Given the description of an element on the screen output the (x, y) to click on. 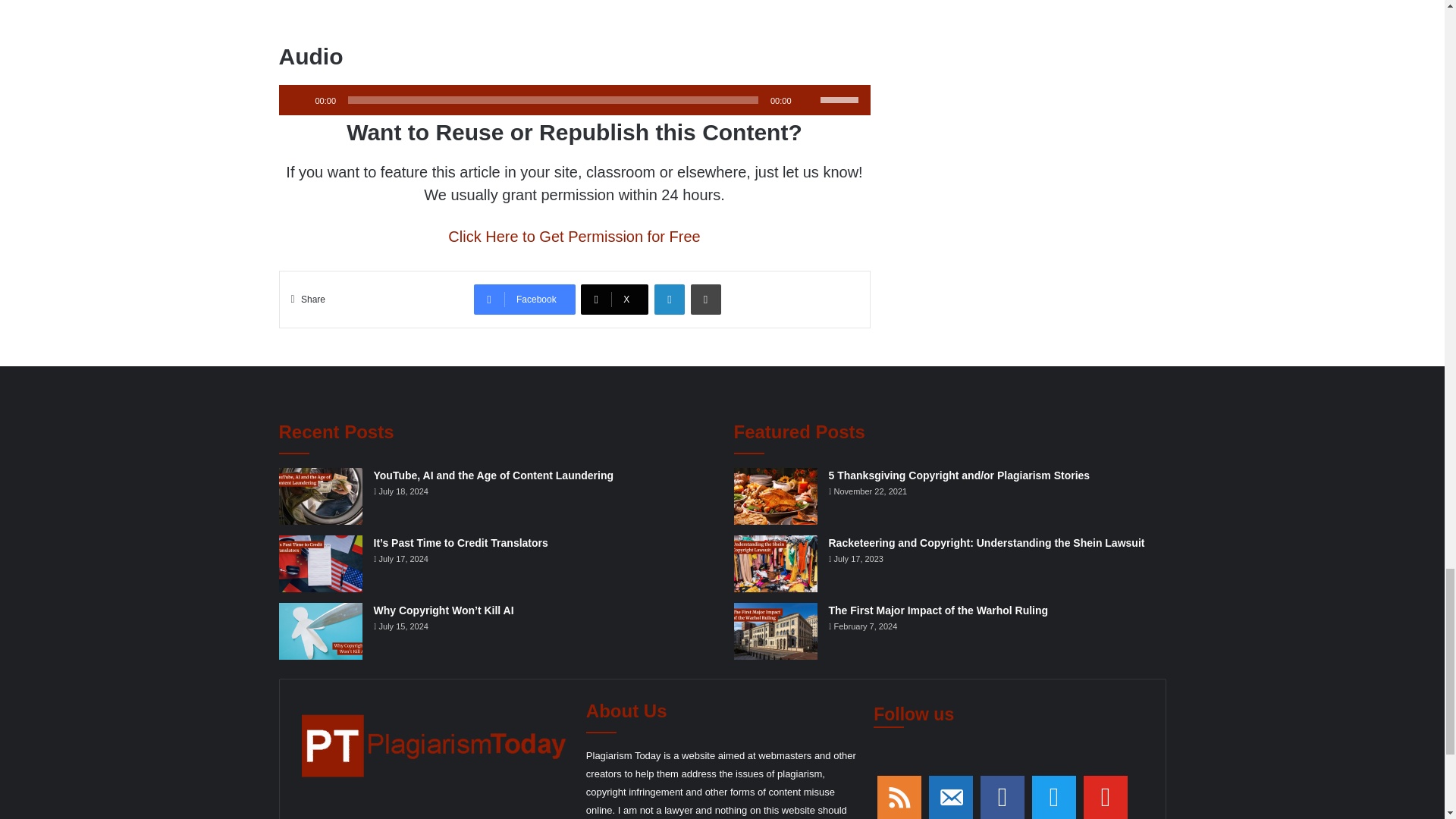
Play (298, 99)
LinkedIn (668, 299)
X (613, 299)
Print (705, 299)
Facebook (524, 299)
Mute (807, 99)
